Given the description of an element on the screen output the (x, y) to click on. 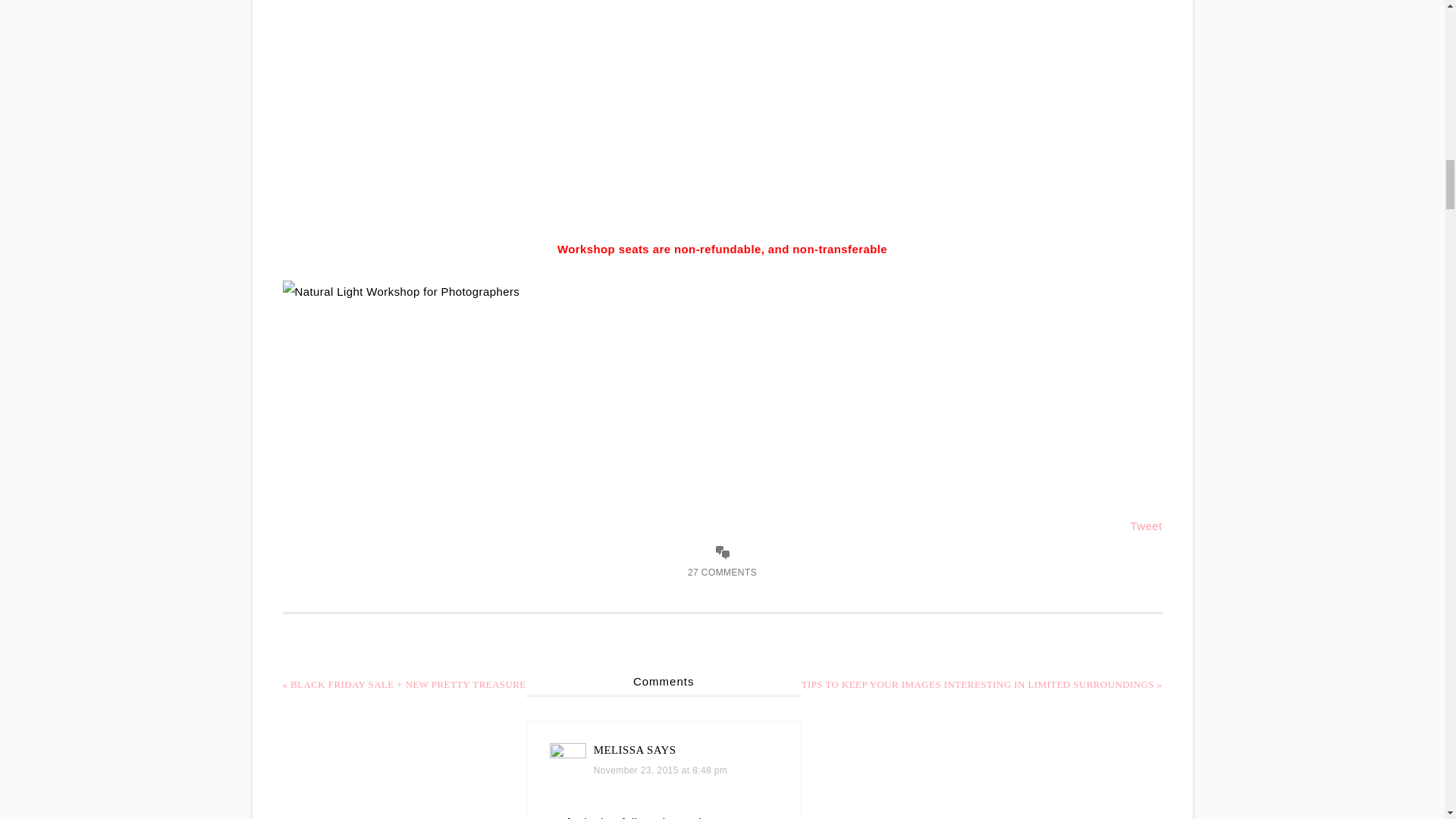
November 23, 2015 at 8:48 pm (661, 769)
Tweet (1145, 525)
27 COMMENTS (722, 572)
